Given the description of an element on the screen output the (x, y) to click on. 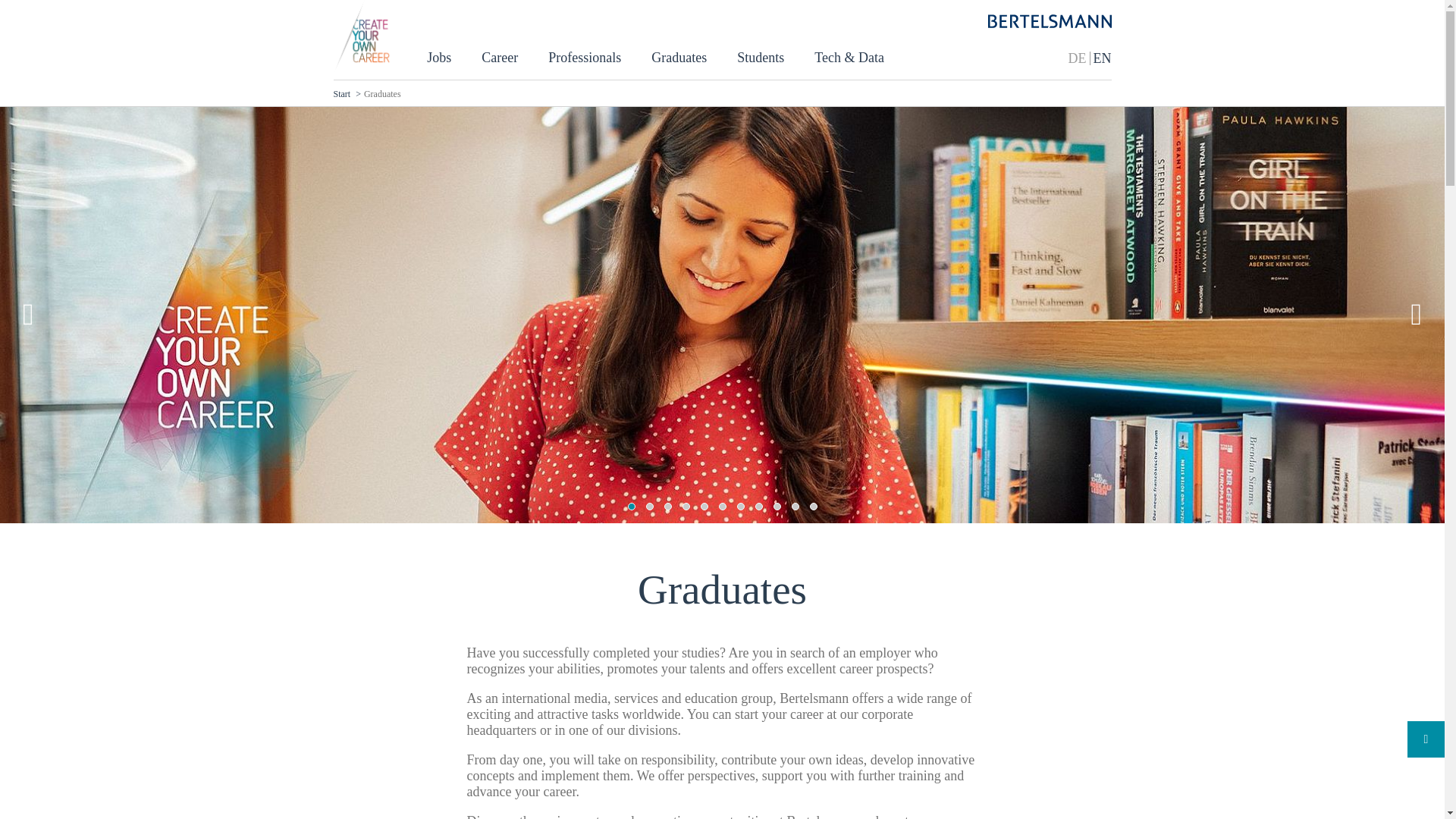
English (1102, 57)
7 (740, 506)
8 (758, 506)
Jobs (438, 57)
bertelsmann (1048, 21)
2 (649, 506)
6 (722, 506)
11 (812, 506)
Career (499, 57)
1 (630, 506)
